Given the description of an element on the screen output the (x, y) to click on. 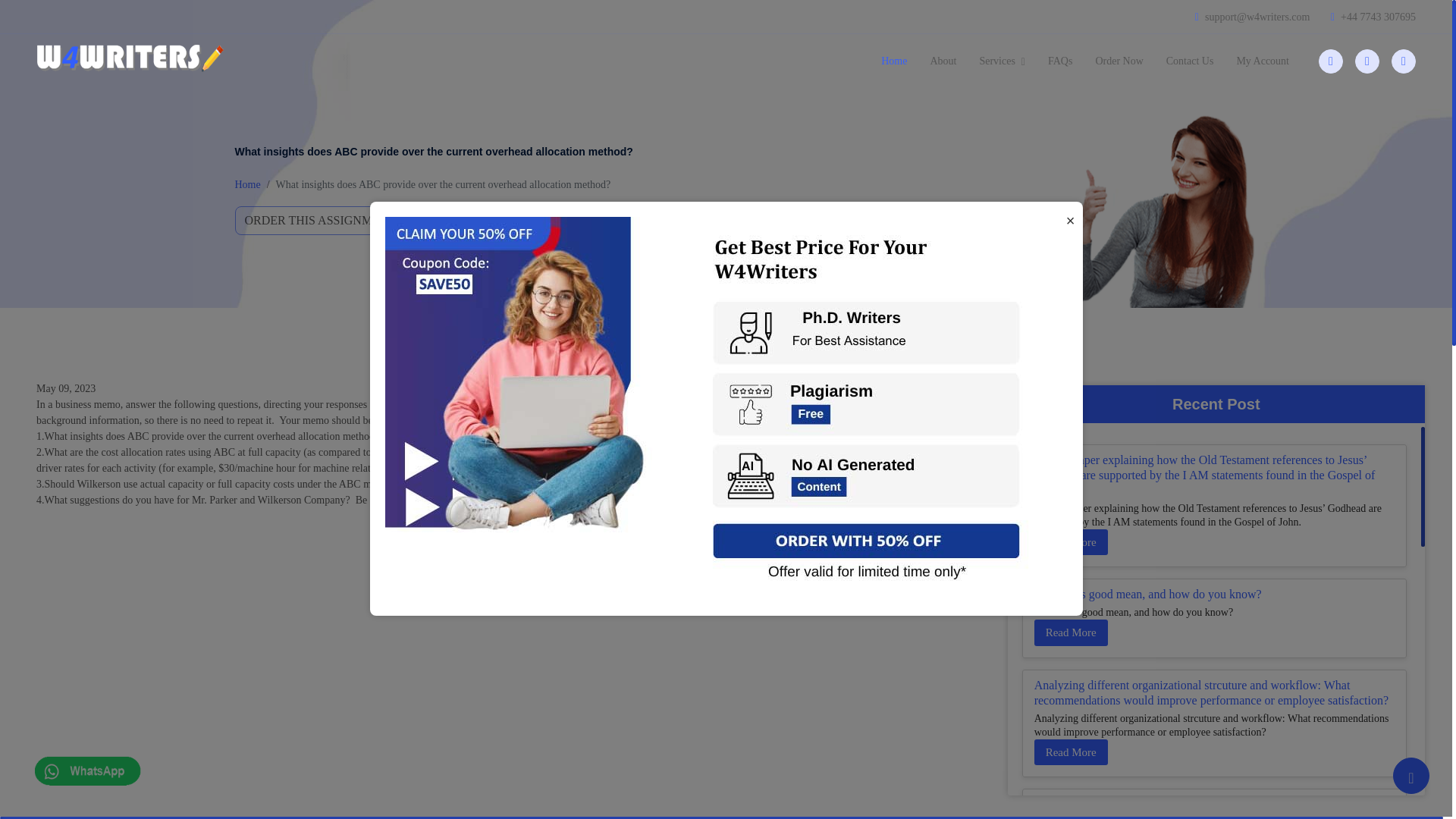
Order Now (1118, 61)
My Account (1262, 61)
ORDER THIS ASSIGNMENT NOW   (339, 220)
Read More (1070, 752)
Read More (1070, 542)
ORDER THIS ASSIGNMENT NOW   (339, 220)
Read More (1070, 632)
Services (1002, 61)
Contact Us (1189, 61)
About (943, 61)
What does good mean, and how do you know? (1147, 594)
Introduction to Food Macromolecules Lab Report. (1156, 803)
Home (247, 184)
